Given the description of an element on the screen output the (x, y) to click on. 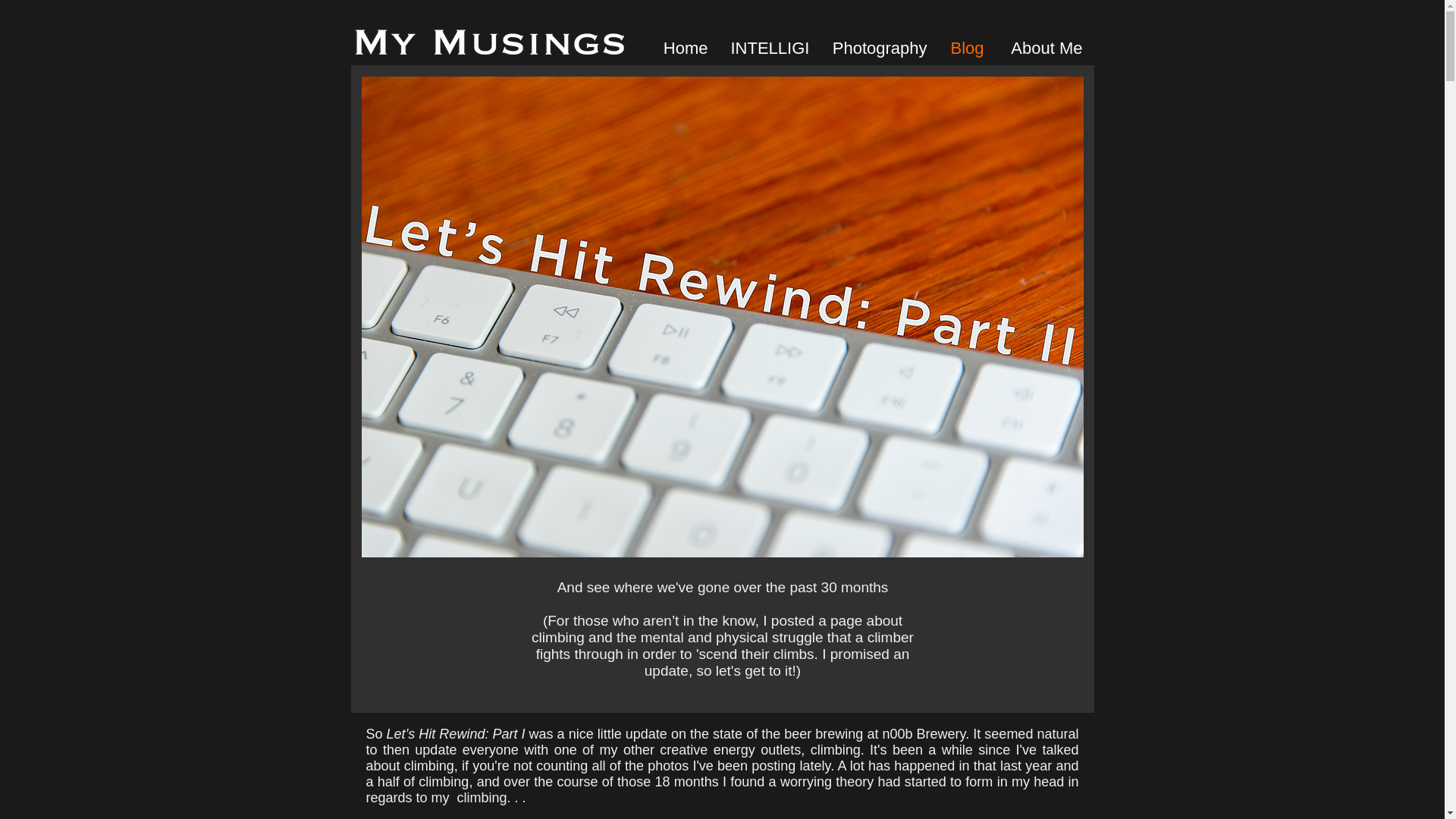
INTELLIGI (767, 48)
Home (684, 48)
Photography (877, 48)
Blog (967, 48)
About Me (1043, 48)
